Given the description of an element on the screen output the (x, y) to click on. 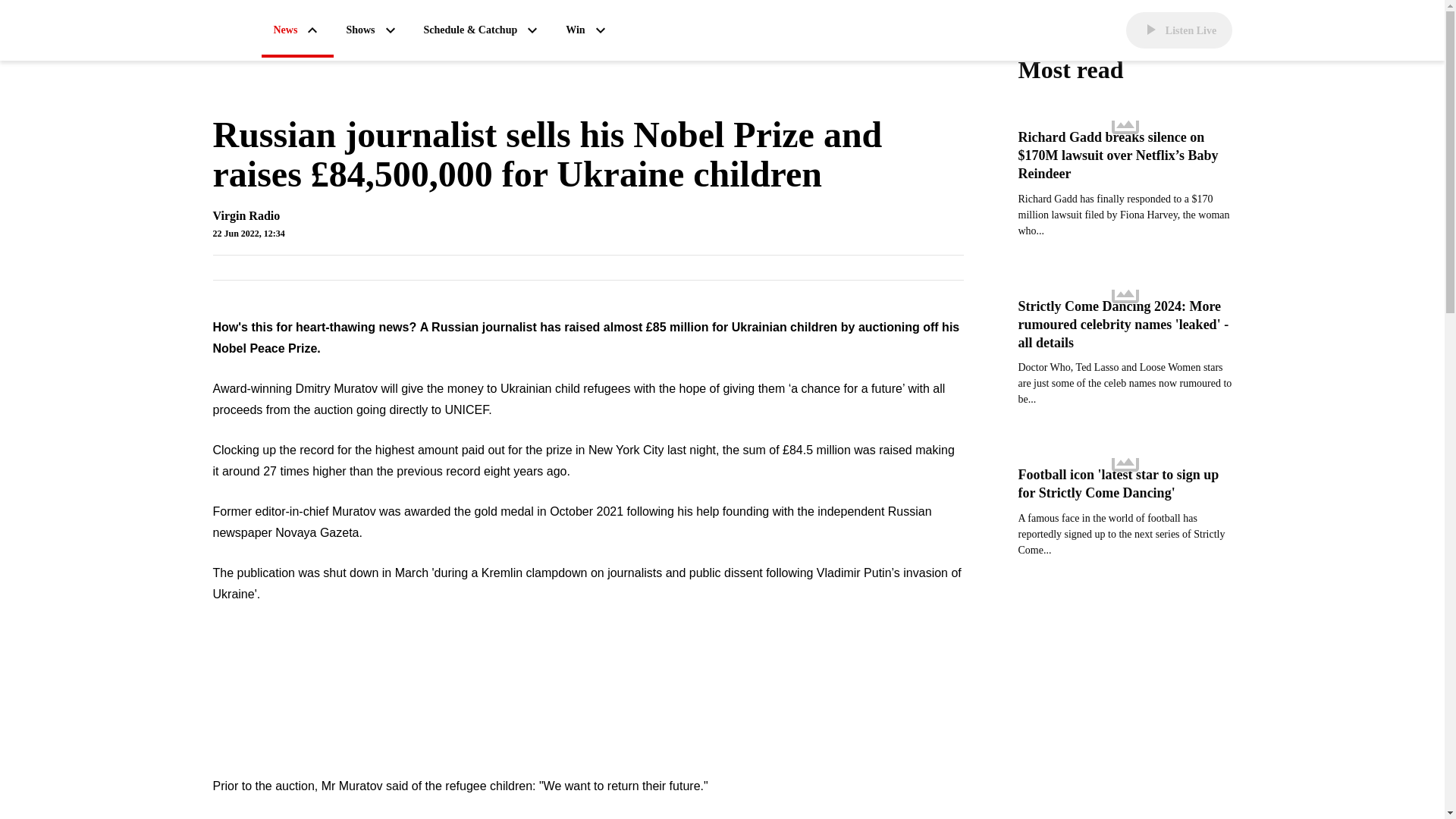
Win (587, 29)
Listen Live (1178, 30)
Listen Live (1178, 30)
News (296, 31)
News (296, 31)
Win (587, 29)
Shows (371, 29)
Shows (371, 29)
